Given the description of an element on the screen output the (x, y) to click on. 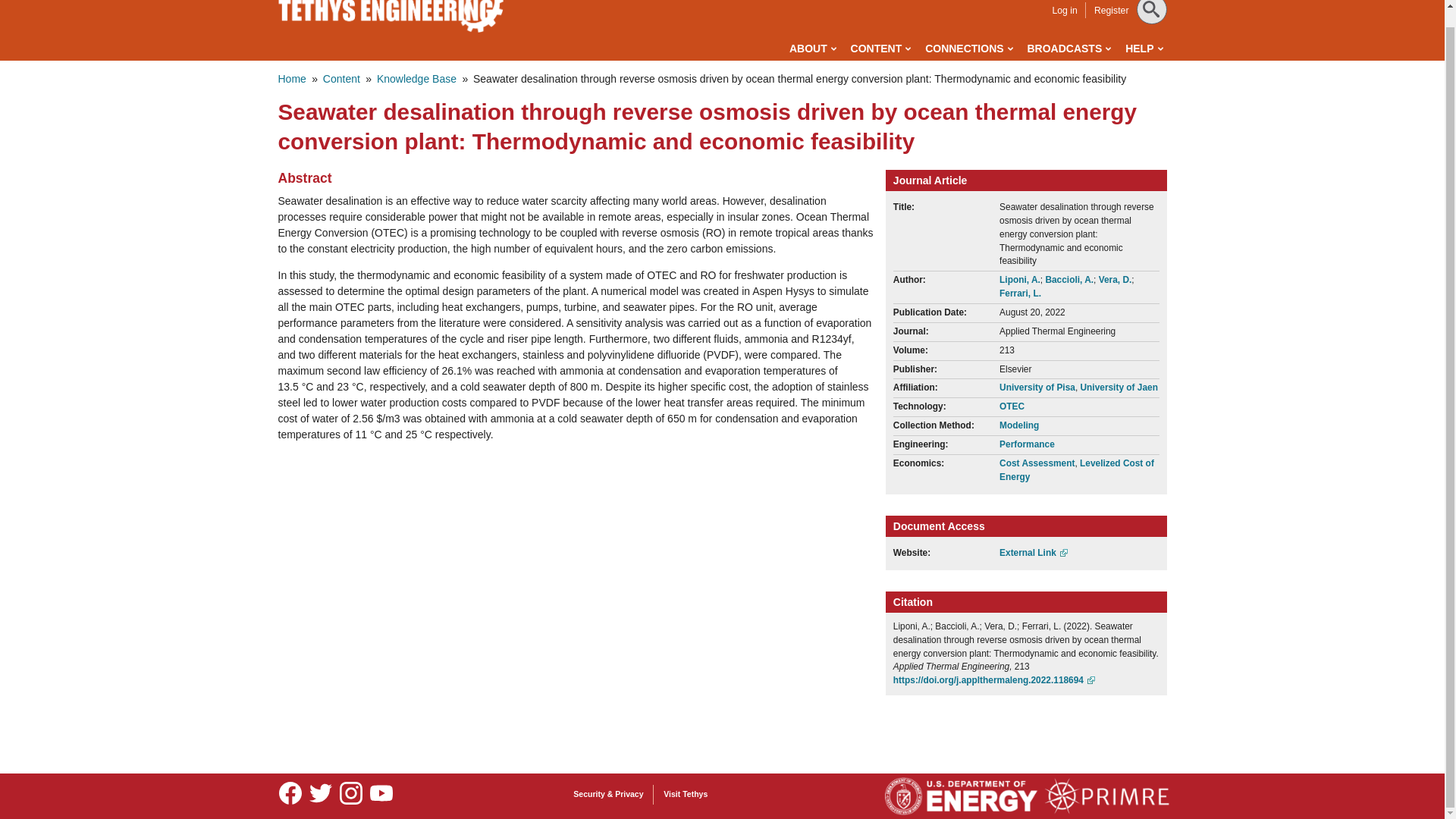
Home (291, 78)
Performance (1026, 443)
University of Jaen (1118, 387)
Vera, D. (1115, 279)
Cost Assessment (1036, 462)
Knowledge Base (417, 78)
External Link (1032, 552)
CONNECTIONS (967, 48)
BROADCASTS (1068, 48)
Search (31, 6)
